Given the description of an element on the screen output the (x, y) to click on. 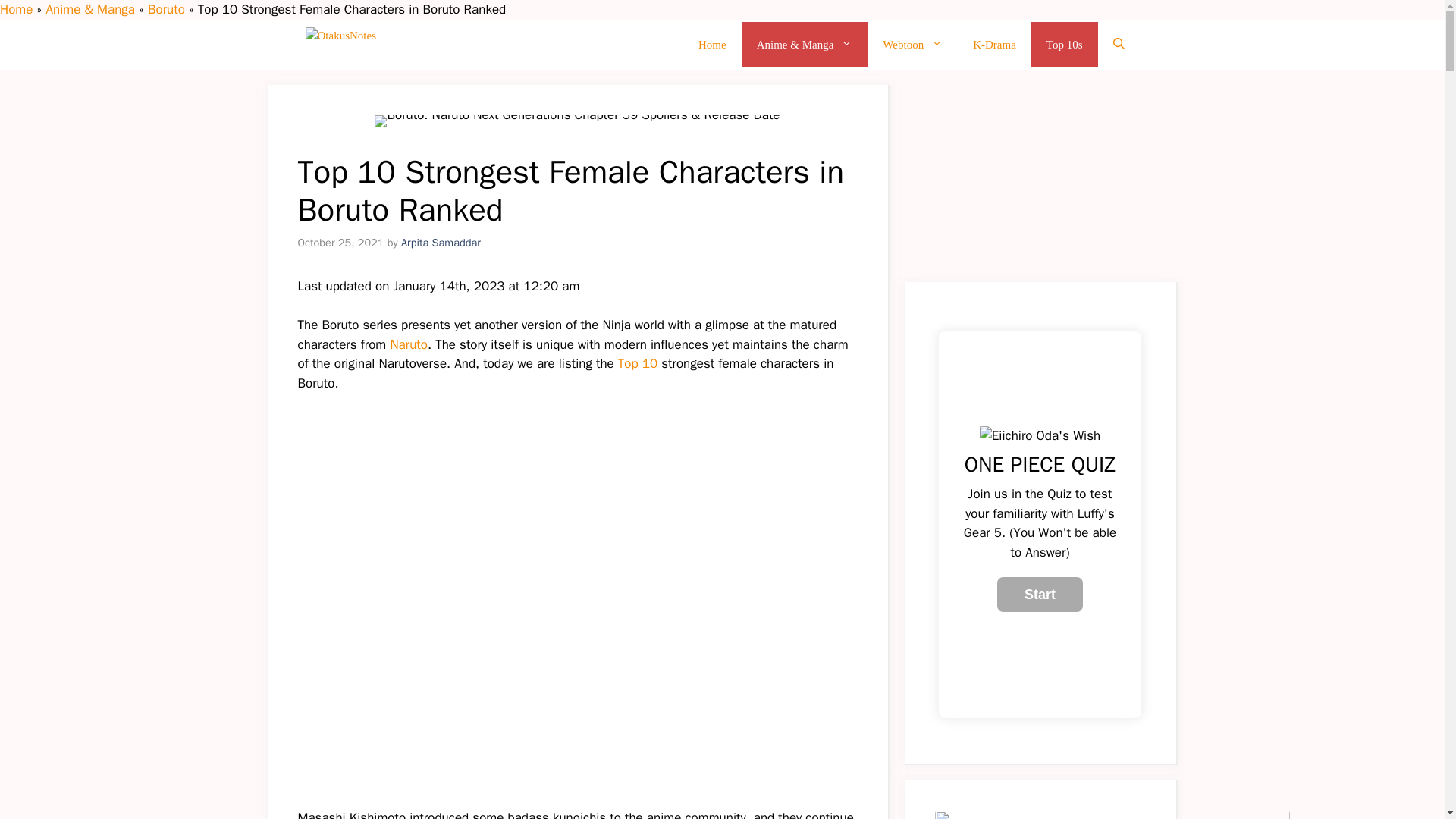
K-Drama (994, 43)
Start (1040, 594)
View all posts by Arpita Samaddar (440, 241)
Home (16, 9)
OtakusNotes (409, 44)
Top 10  (639, 363)
Top 10s (1063, 43)
Arpita Samaddar (440, 241)
Home (711, 43)
Naruto (409, 344)
